Given the description of an element on the screen output the (x, y) to click on. 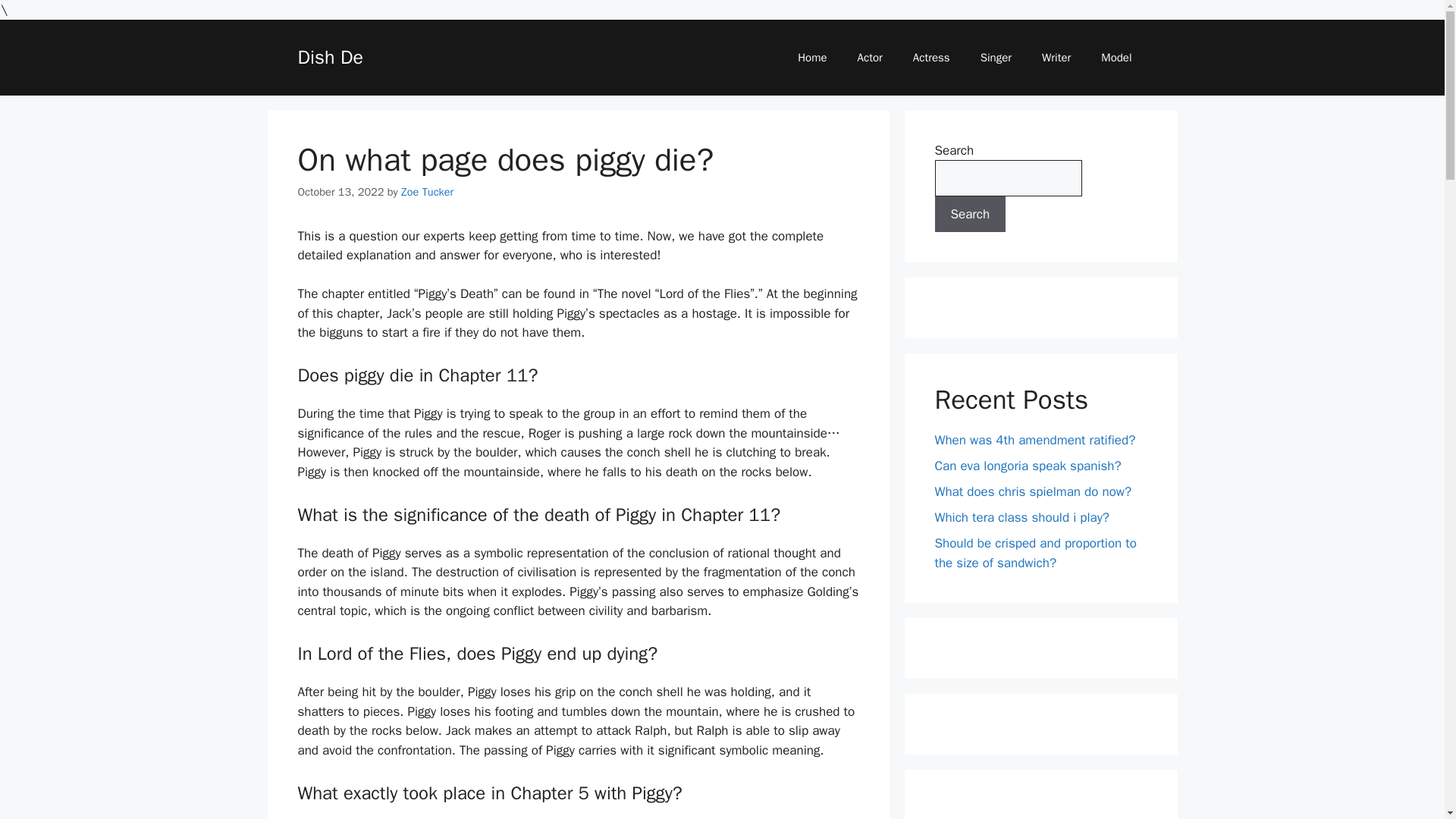
Writer (1056, 57)
View all posts by Zoe Tucker (426, 192)
Singer (995, 57)
Model (1116, 57)
Can eva longoria speak spanish? (1027, 465)
Should be crisped and proportion to the size of sandwich? (1034, 552)
Home (812, 57)
Which tera class should i play? (1021, 517)
Actor (870, 57)
Zoe Tucker (426, 192)
